Given the description of an element on the screen output the (x, y) to click on. 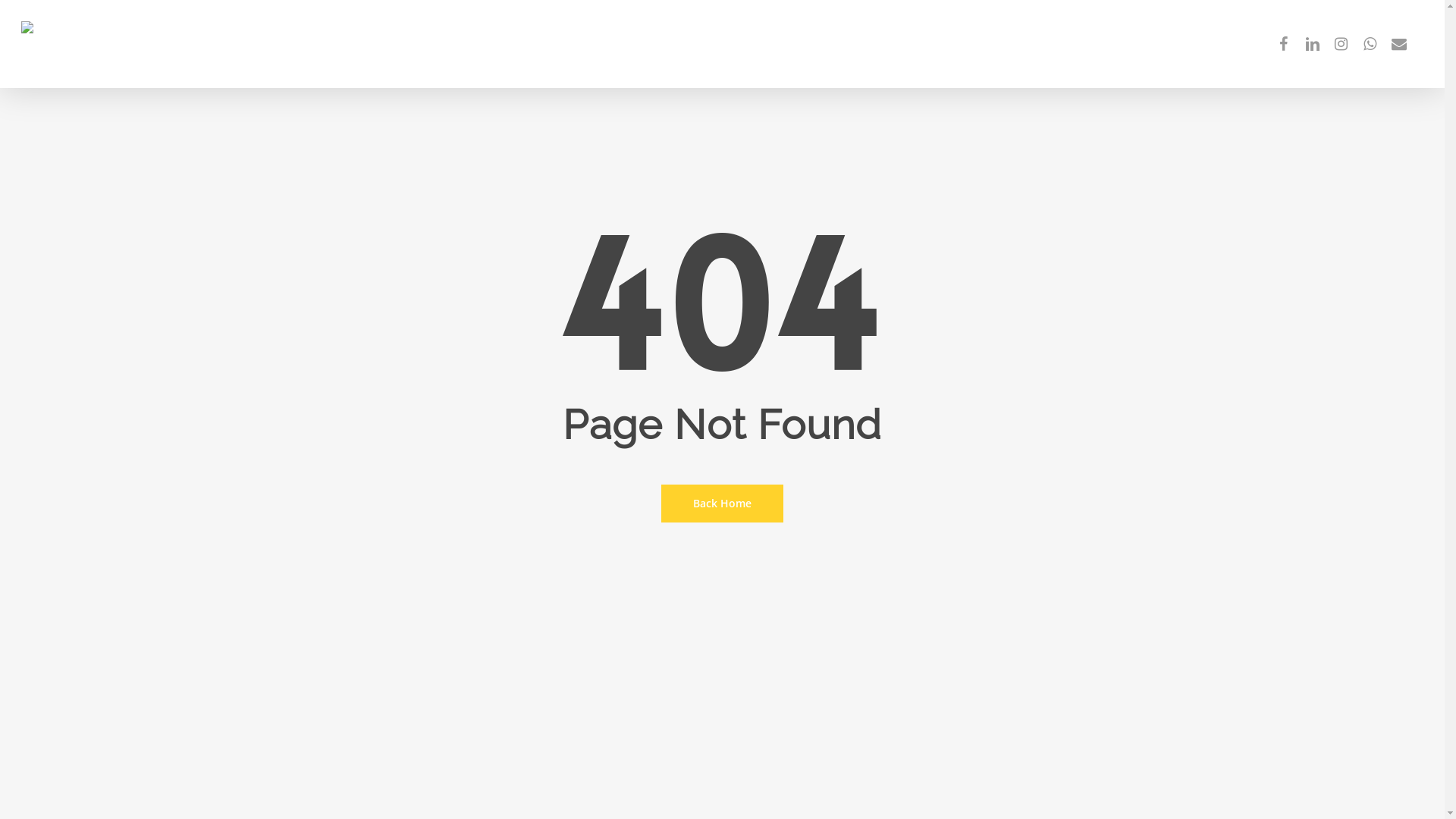
email Element type: text (1398, 43)
linkedin Element type: text (1312, 43)
whatsapp Element type: text (1369, 43)
instagram Element type: text (1341, 43)
Back Home Element type: text (722, 502)
facebook Element type: text (1283, 43)
